Given the description of an element on the screen output the (x, y) to click on. 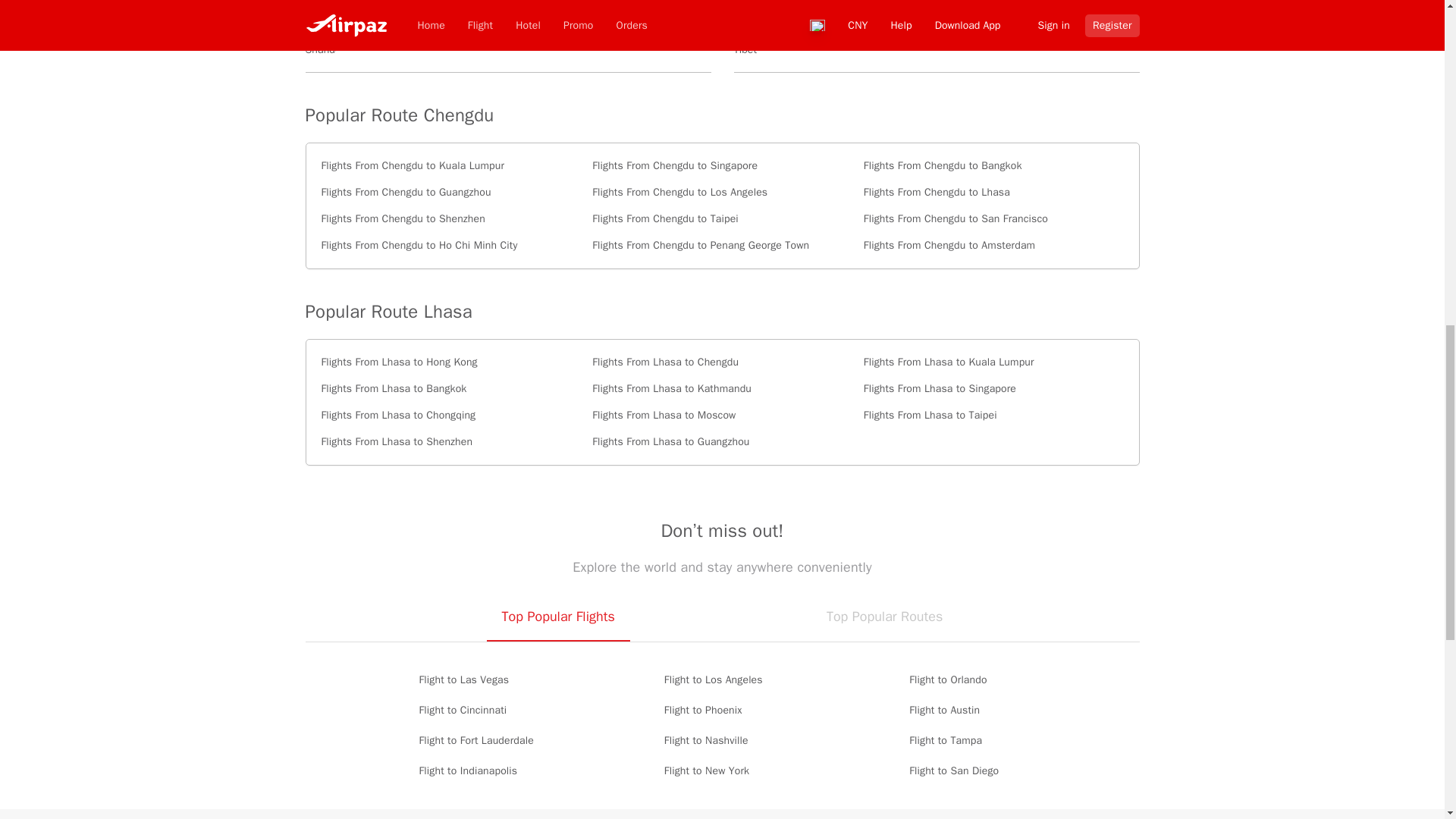
Flights From Chengdu to Bangkok (993, 165)
Flights From Chengdu to Shenzhen (450, 218)
Flights From Chengdu to Singapore (721, 165)
Tibet Airlines (936, 51)
Flights From Chengdu to Los Angeles (721, 192)
Flights From Chengdu to Lhasa (993, 192)
Flights From Chengdu to Taipei (721, 218)
Xiamen Air (507, 9)
China Eastern (936, 9)
Flights From Chengdu to Guangzhou (450, 192)
Shandong Air (507, 51)
Flights From Chengdu to Kuala Lumpur (450, 165)
